Given the description of an element on the screen output the (x, y) to click on. 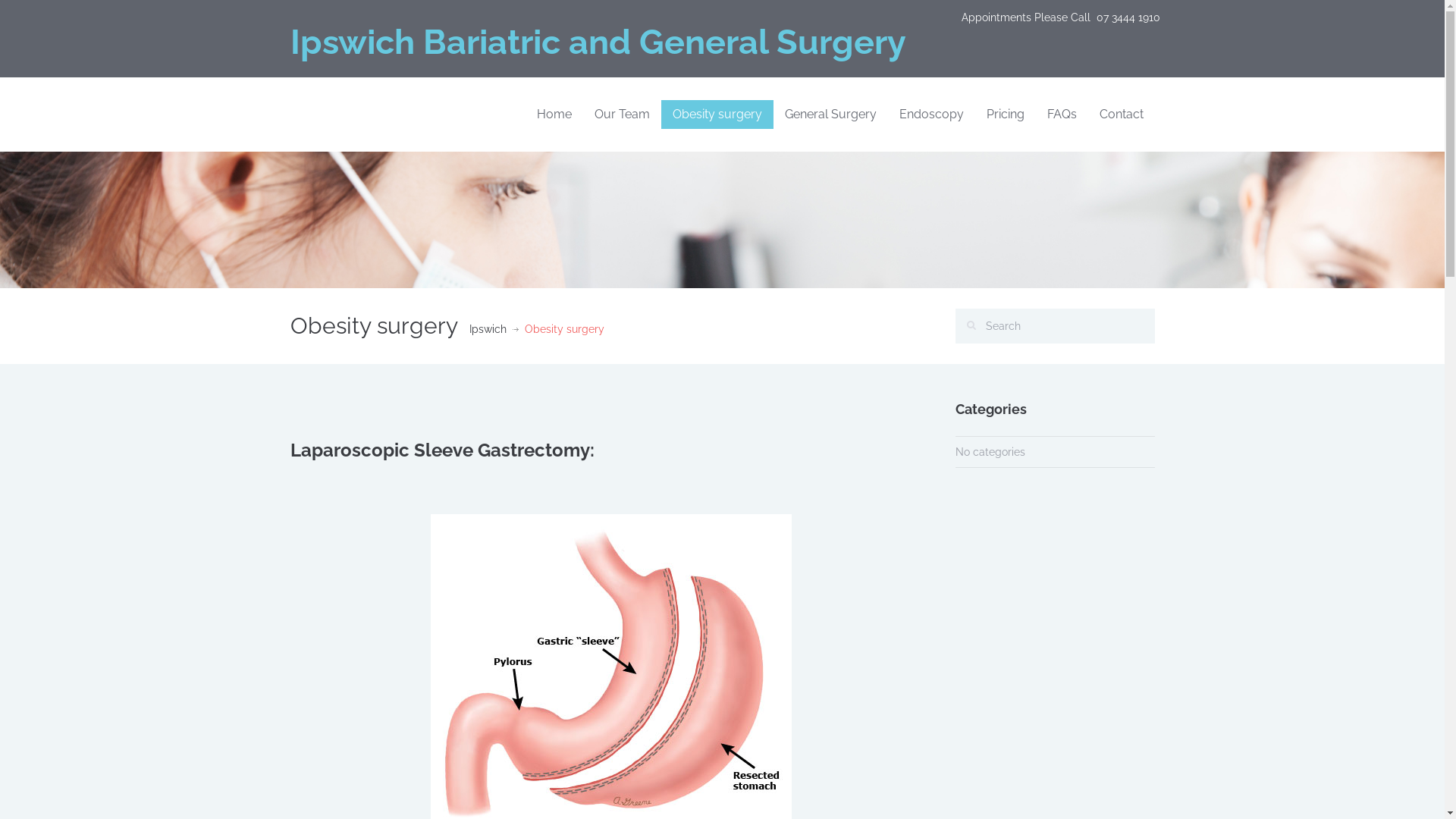
Laparoscopic Sleeve Gastrectomy Element type: text (439, 450)
Home Element type: text (553, 114)
FAQs Element type: text (1061, 114)
Contact Element type: text (1120, 114)
Ipswich Element type: text (486, 328)
Pricing Element type: text (1005, 114)
Obesity surgery Element type: text (717, 114)
Our Team Element type: text (621, 114)
Endoscopy Element type: text (930, 114)
General Surgery Element type: text (830, 114)
